Given the description of an element on the screen output the (x, y) to click on. 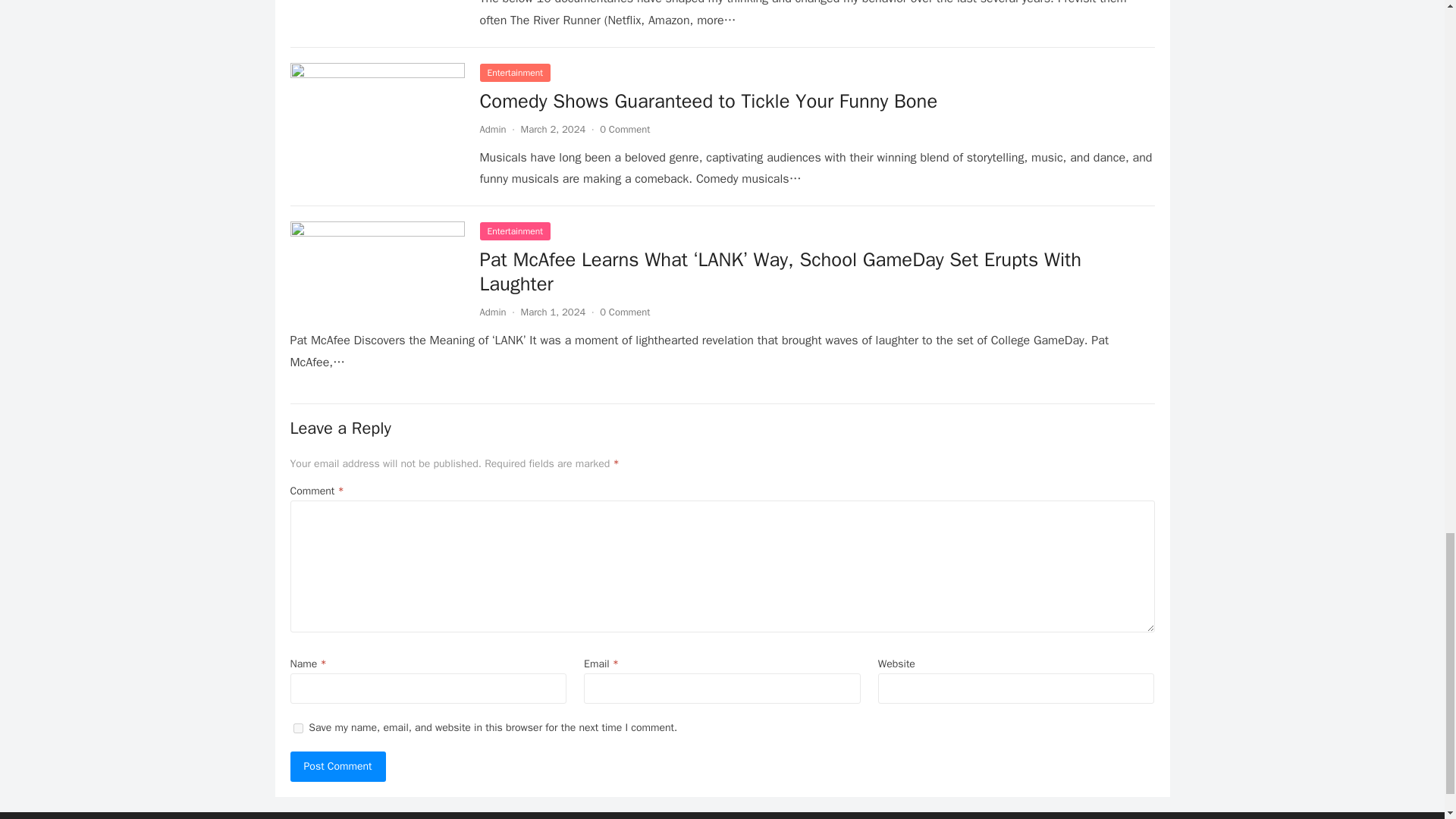
Entertainment (514, 72)
Posts by Admin (492, 311)
yes (297, 728)
Admin (492, 128)
Posts by Admin (492, 128)
Post Comment (337, 766)
Comedy Shows Guaranteed to Tickle Your Funny Bone (708, 100)
